Given the description of an element on the screen output the (x, y) to click on. 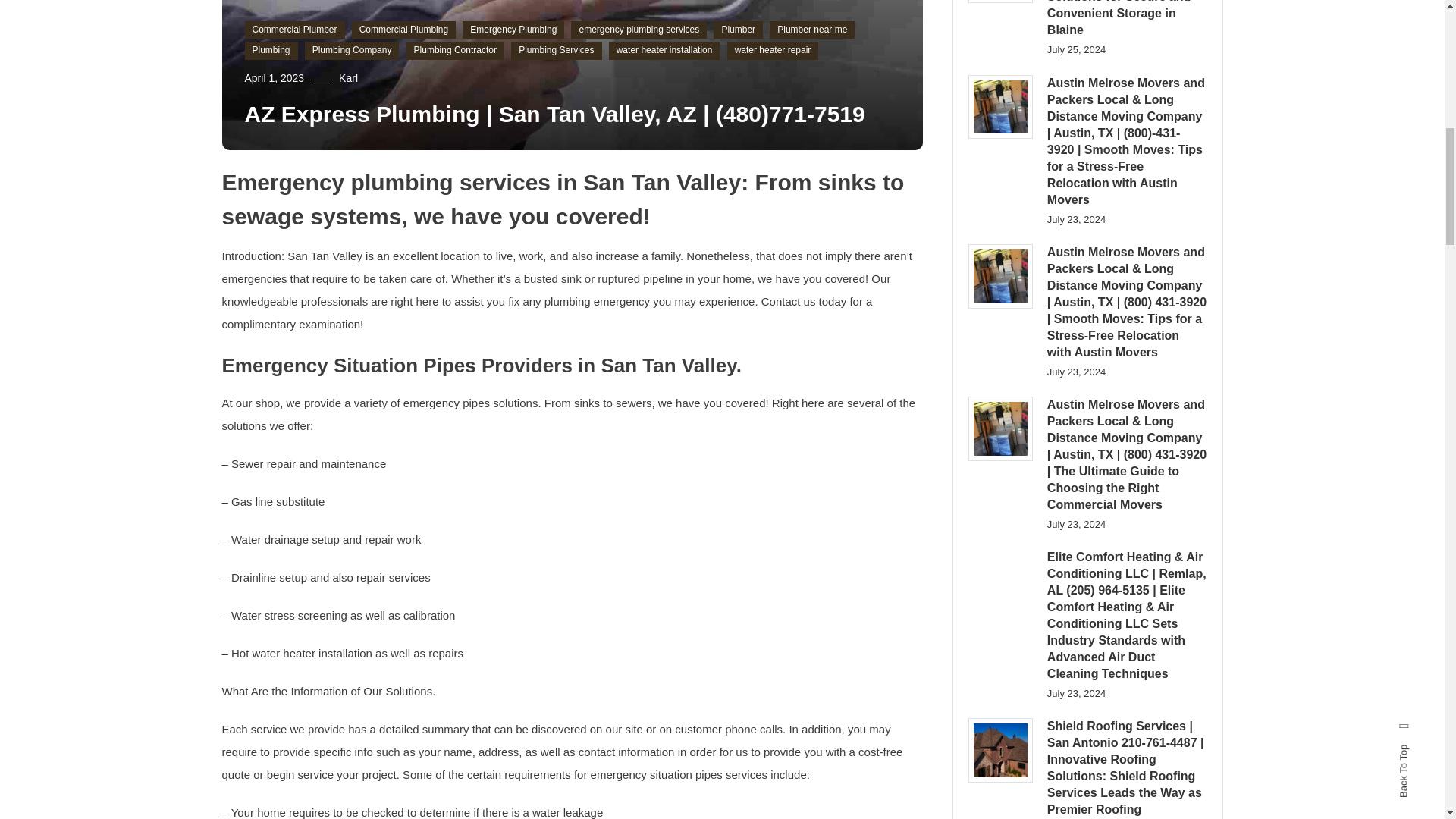
Commercial Plumber (293, 30)
Commercial Plumbing (403, 30)
